Given the description of an element on the screen output the (x, y) to click on. 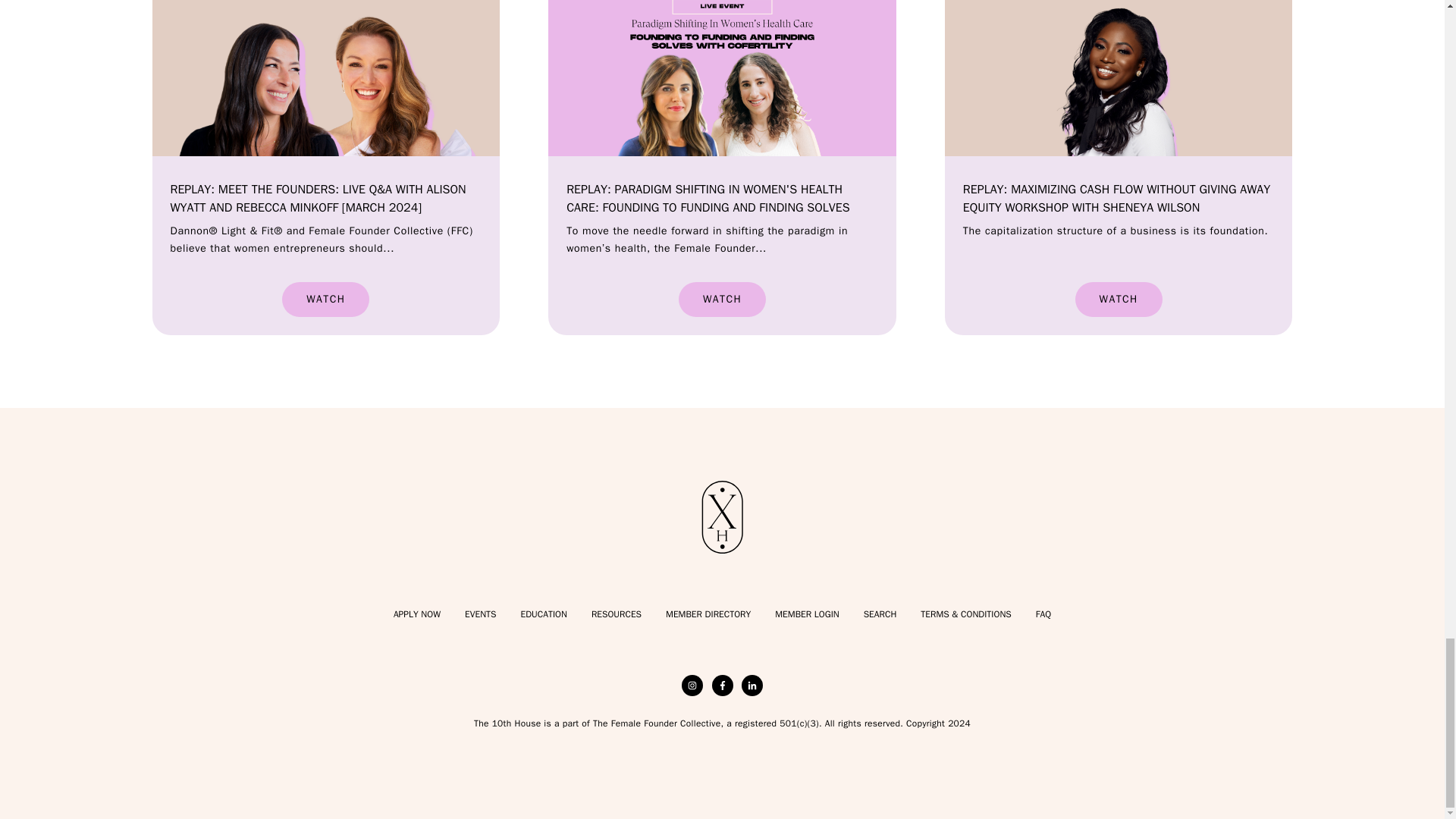
APPLY NOW (417, 613)
EVENTS (480, 613)
MEMBER DIRECTORY (708, 613)
RESOURCES (616, 613)
WATCH (721, 298)
MEMBER LOGIN (806, 613)
WATCH (325, 298)
SEARCH (879, 613)
WATCH (1118, 298)
EDUCATION (542, 613)
